Given the description of an element on the screen output the (x, y) to click on. 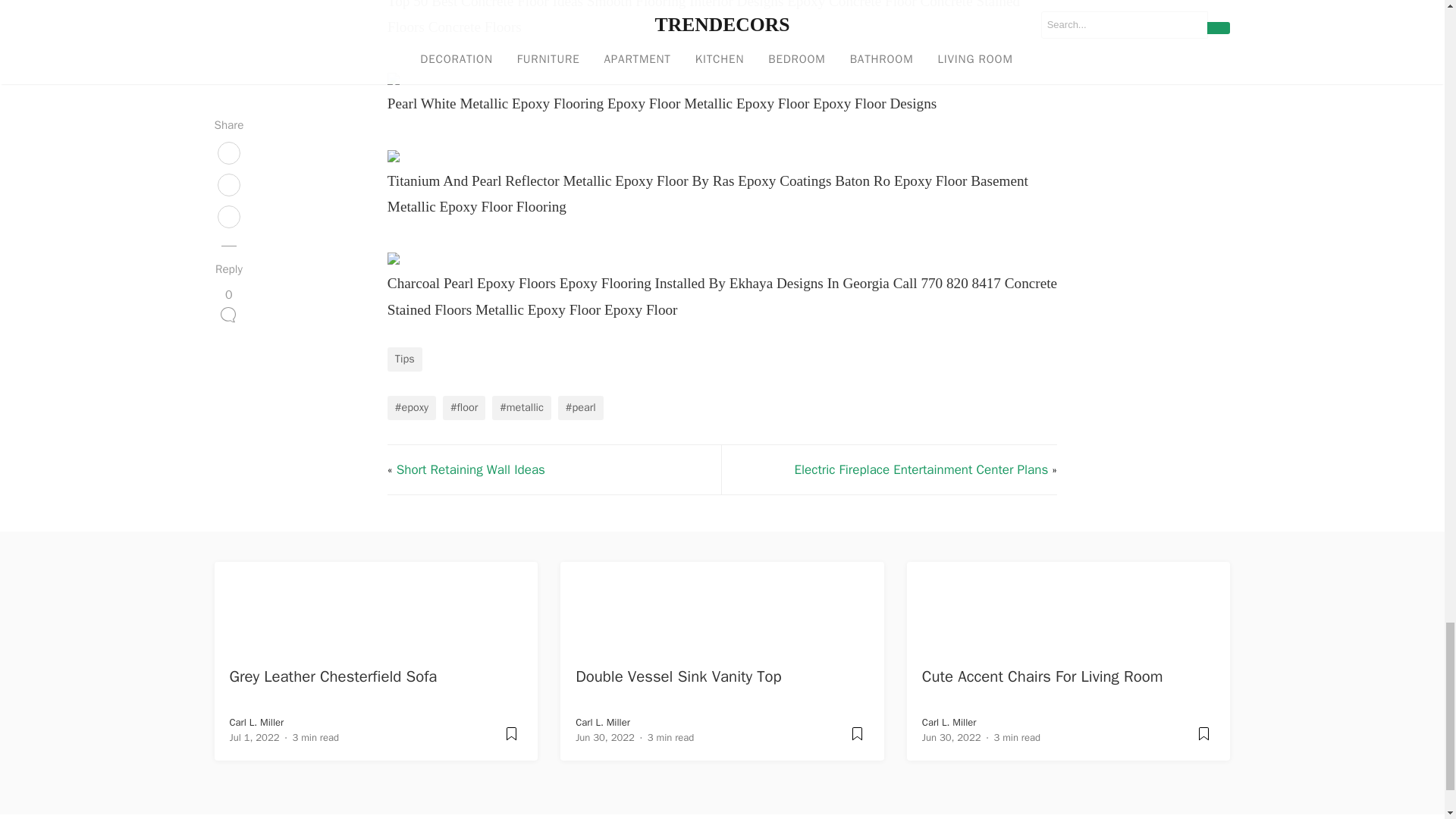
Short Retaining Wall Ideas (470, 469)
Carl L. Miller (256, 721)
Electric Fireplace Entertainment Center Plans (921, 469)
Double Vessel Sink Vanity Top (677, 676)
Grey Leather Chesterfield Sofa (334, 676)
Tips (404, 359)
